Given the description of an element on the screen output the (x, y) to click on. 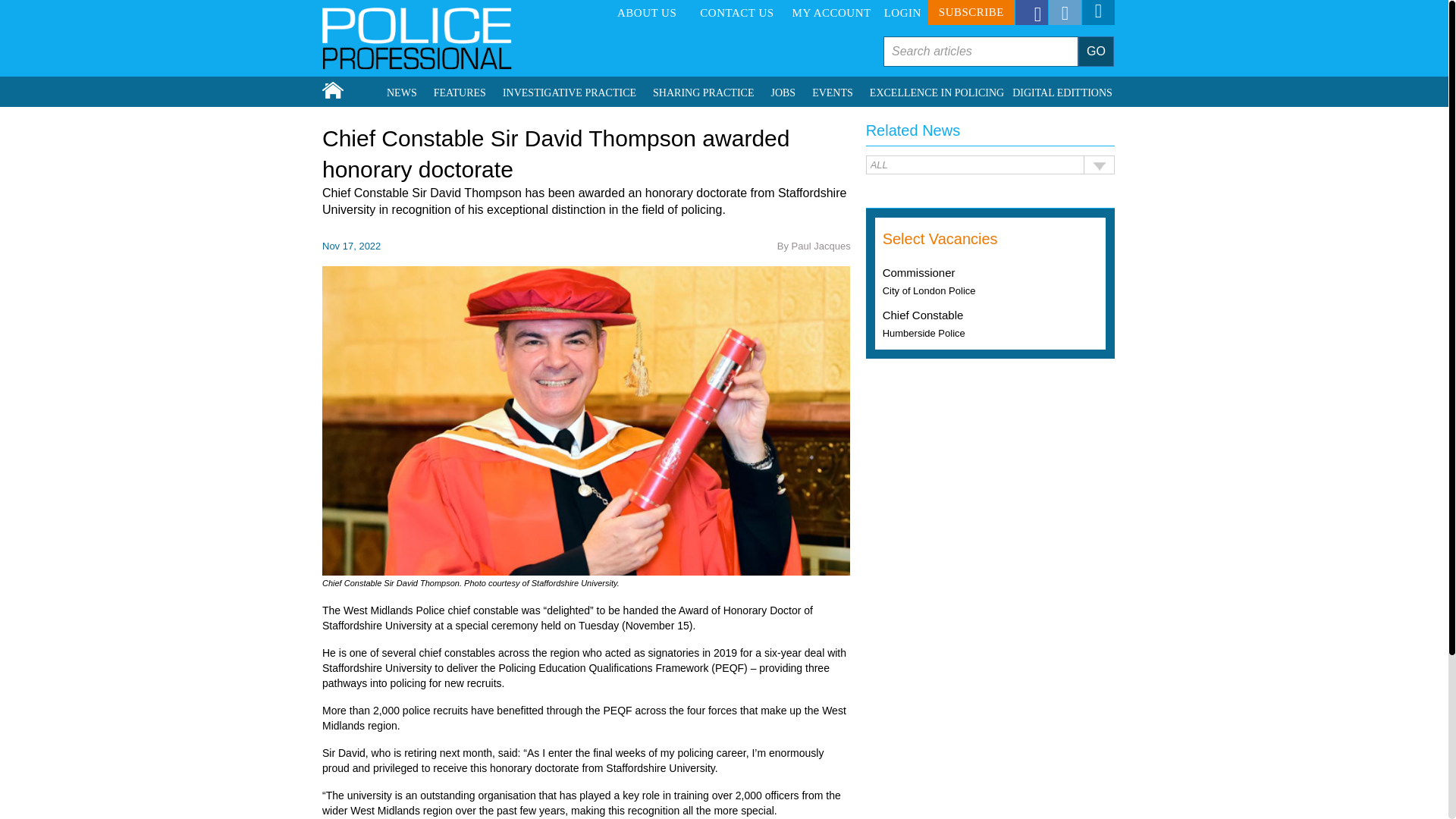
NEWS (401, 92)
ABOUT US (646, 13)
Police Professional (416, 38)
GO (1095, 51)
SUBSCRIBE (971, 12)
LOGIN (902, 13)
CONTACT US (736, 13)
MY ACCOUNT (831, 13)
